Given the description of an element on the screen output the (x, y) to click on. 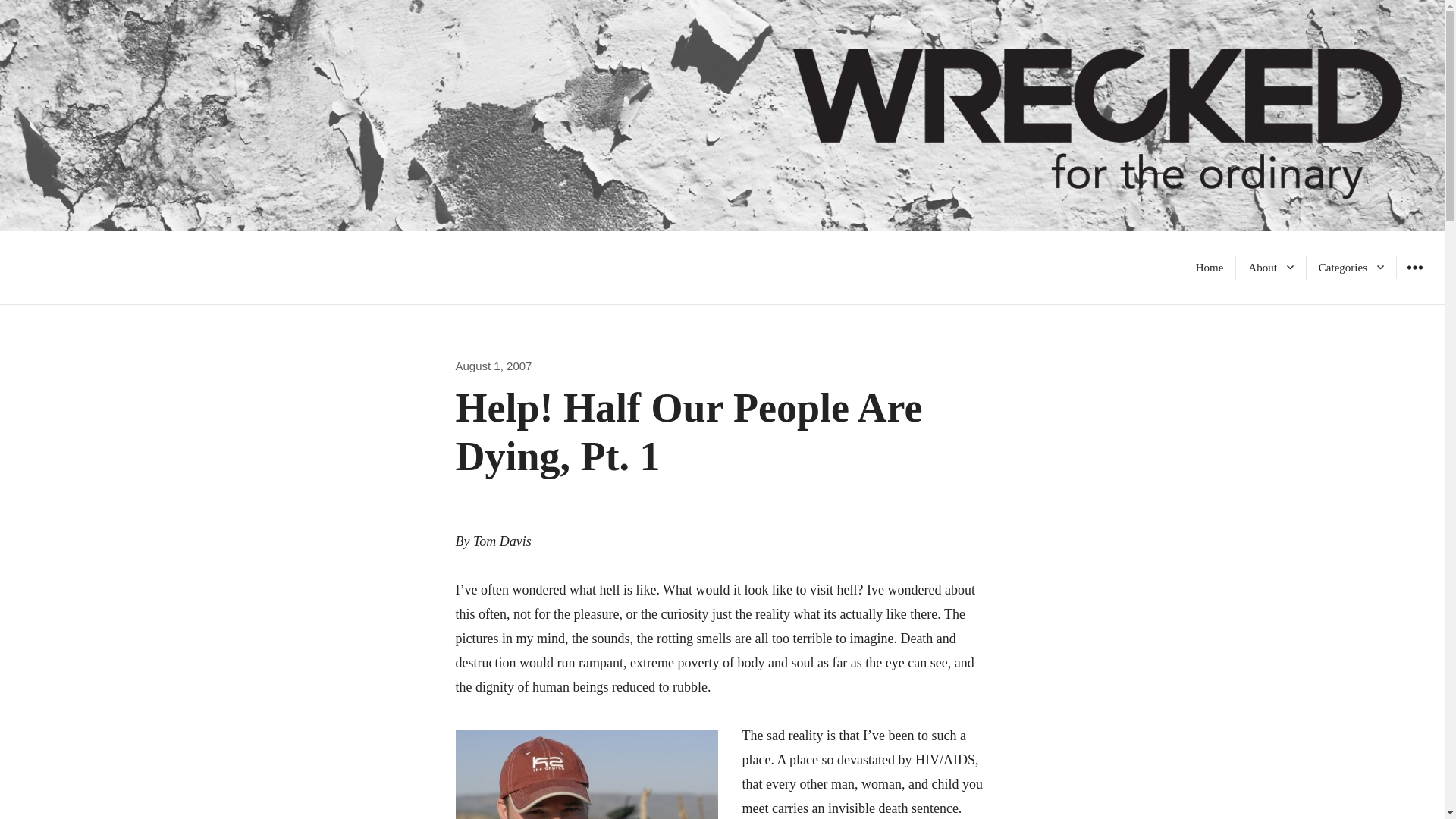
Categories (1351, 267)
About (1271, 267)
WIDGETS (1414, 267)
August 1, 2007 (492, 365)
Home (1209, 267)
